Given the description of an element on the screen output the (x, y) to click on. 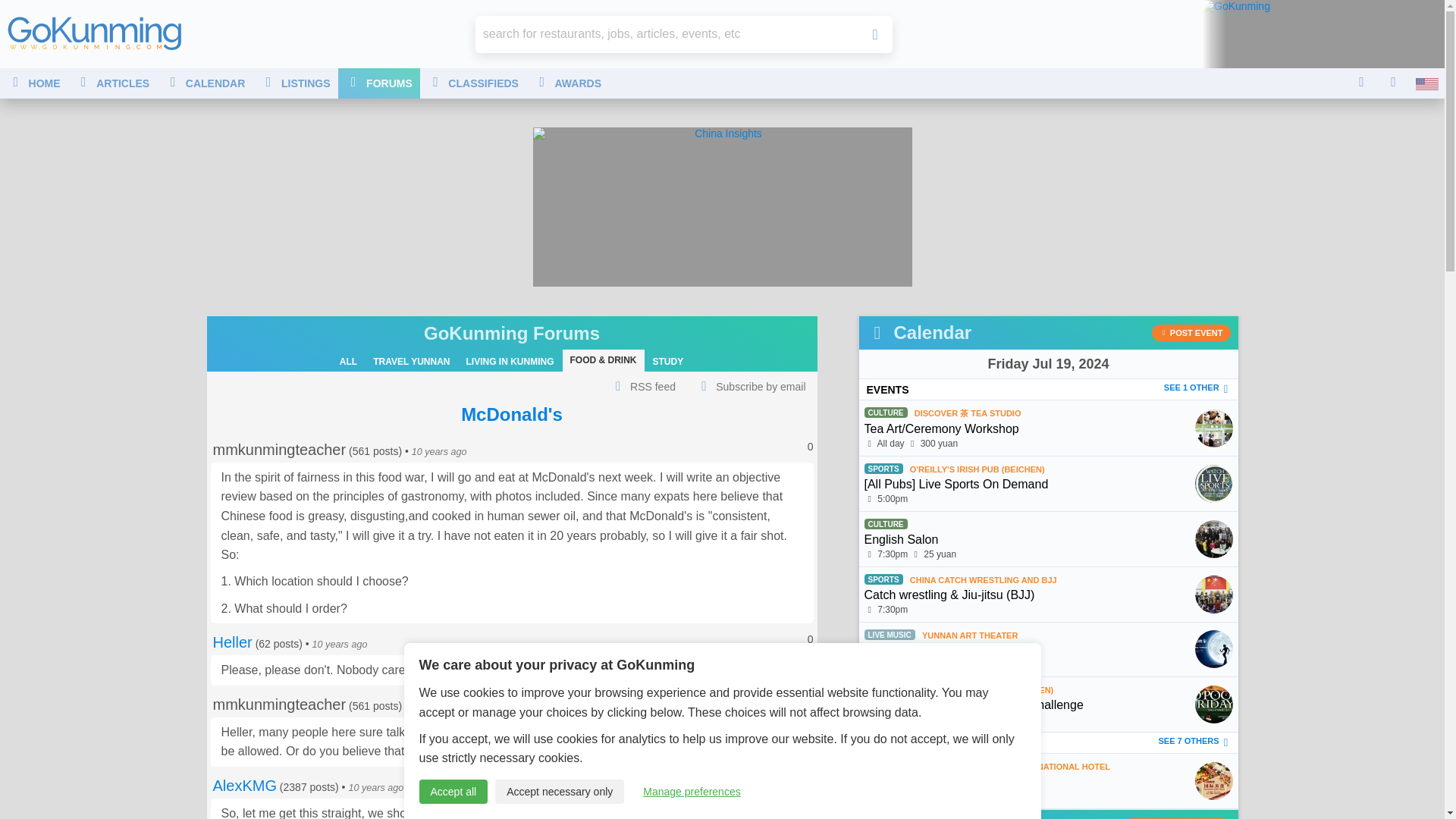
June 16, 2014, 3:52pm (439, 706)
June 16, 2014, 3:51pm (340, 644)
HOME (34, 82)
GoKunming (94, 33)
ARTICLES (112, 82)
AWARDS (566, 82)
LISTINGS (294, 82)
June 16, 2014, 3:53pm (375, 787)
June 16, 2014, 3:47pm (439, 451)
ALL (348, 361)
GoKunming Forums (511, 332)
McDonald's (511, 414)
Open the calendar (1047, 363)
TRAVEL YUNNAN (411, 361)
CLASSIFIEDS (472, 82)
